Given the description of an element on the screen output the (x, y) to click on. 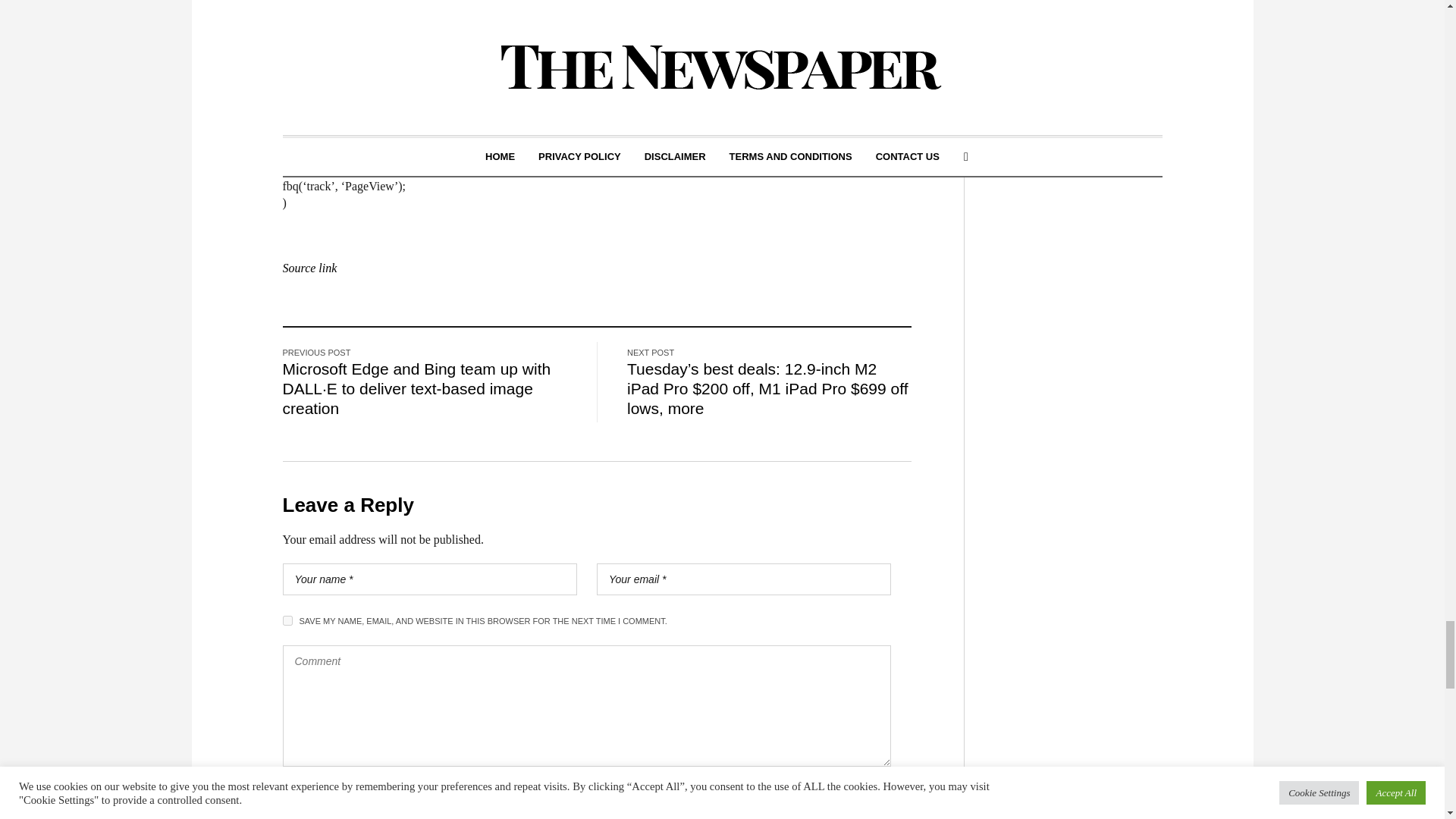
Source link (309, 267)
Add Comment (344, 803)
yes (287, 620)
Add Comment (344, 803)
